Given the description of an element on the screen output the (x, y) to click on. 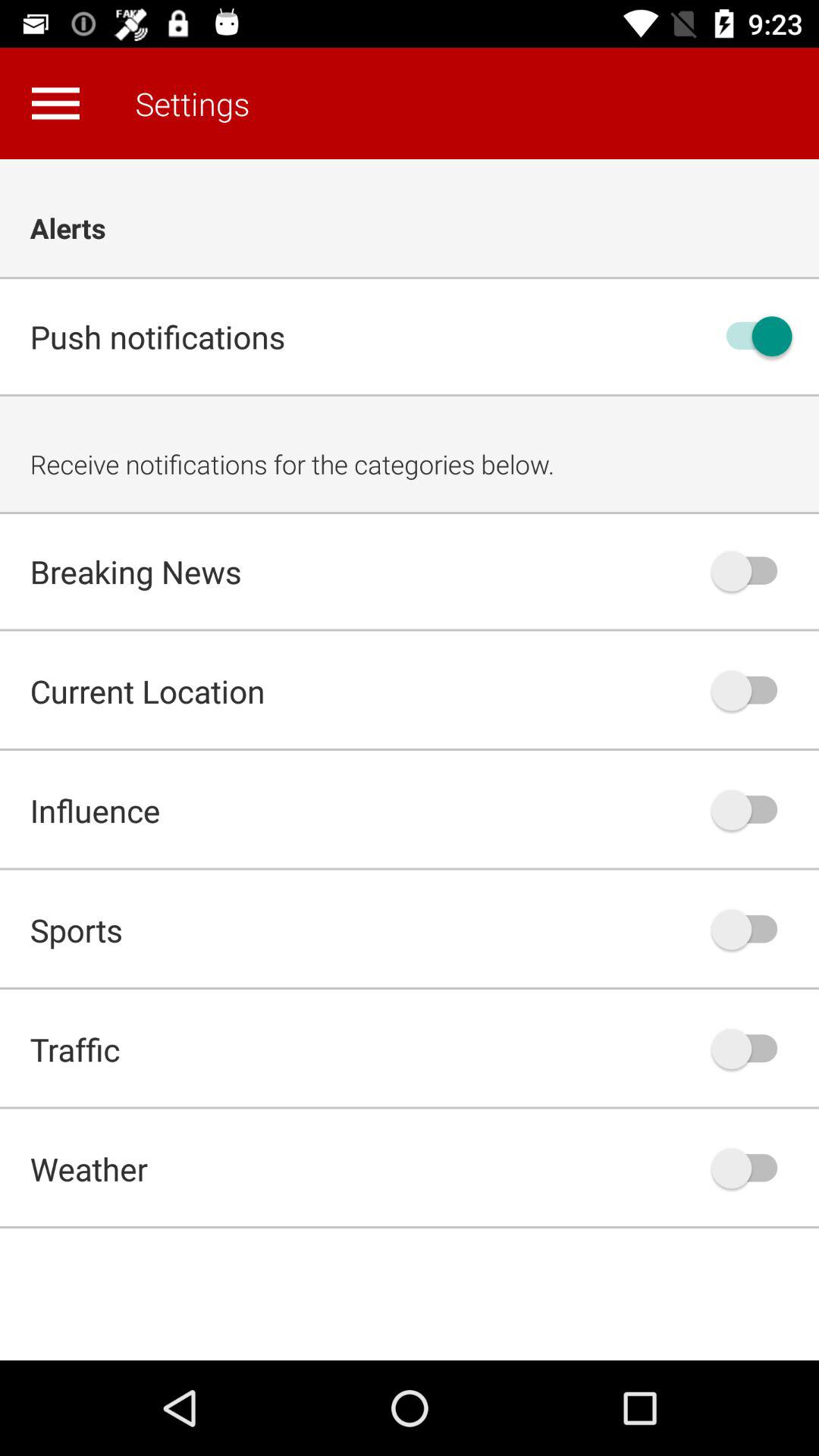
toggle on and off (751, 929)
